Given the description of an element on the screen output the (x, y) to click on. 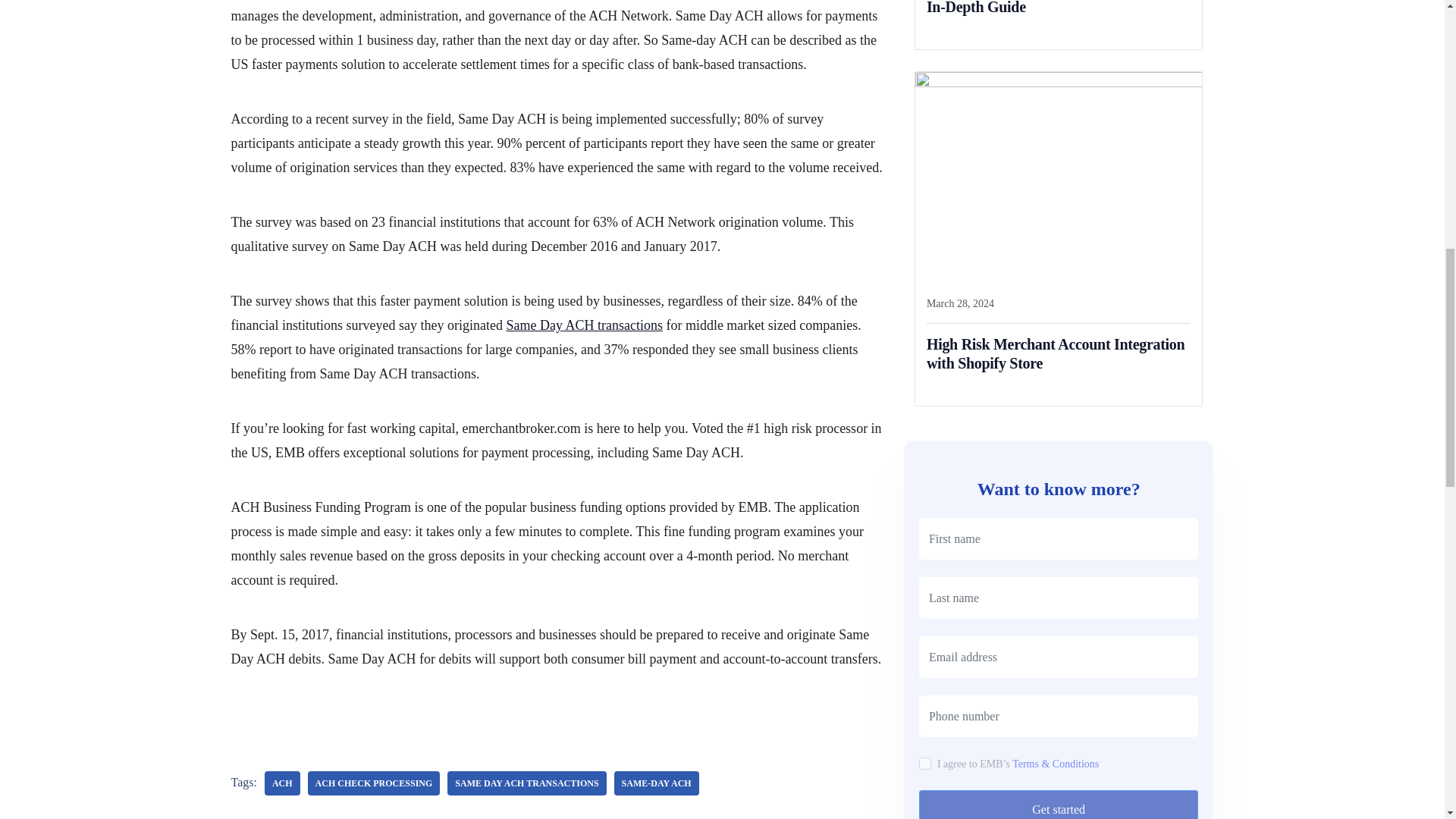
ACH Check Processing (374, 783)
Same-Day ACH (656, 783)
ACH (281, 783)
Same Day ACH transactions (525, 783)
